Given the description of an element on the screen output the (x, y) to click on. 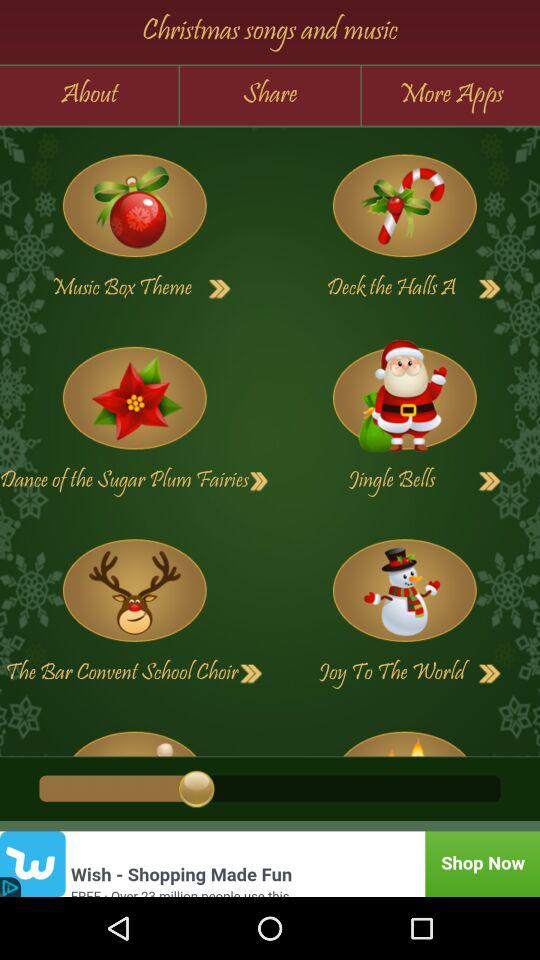
play song (490, 673)
